Given the description of an element on the screen output the (x, y) to click on. 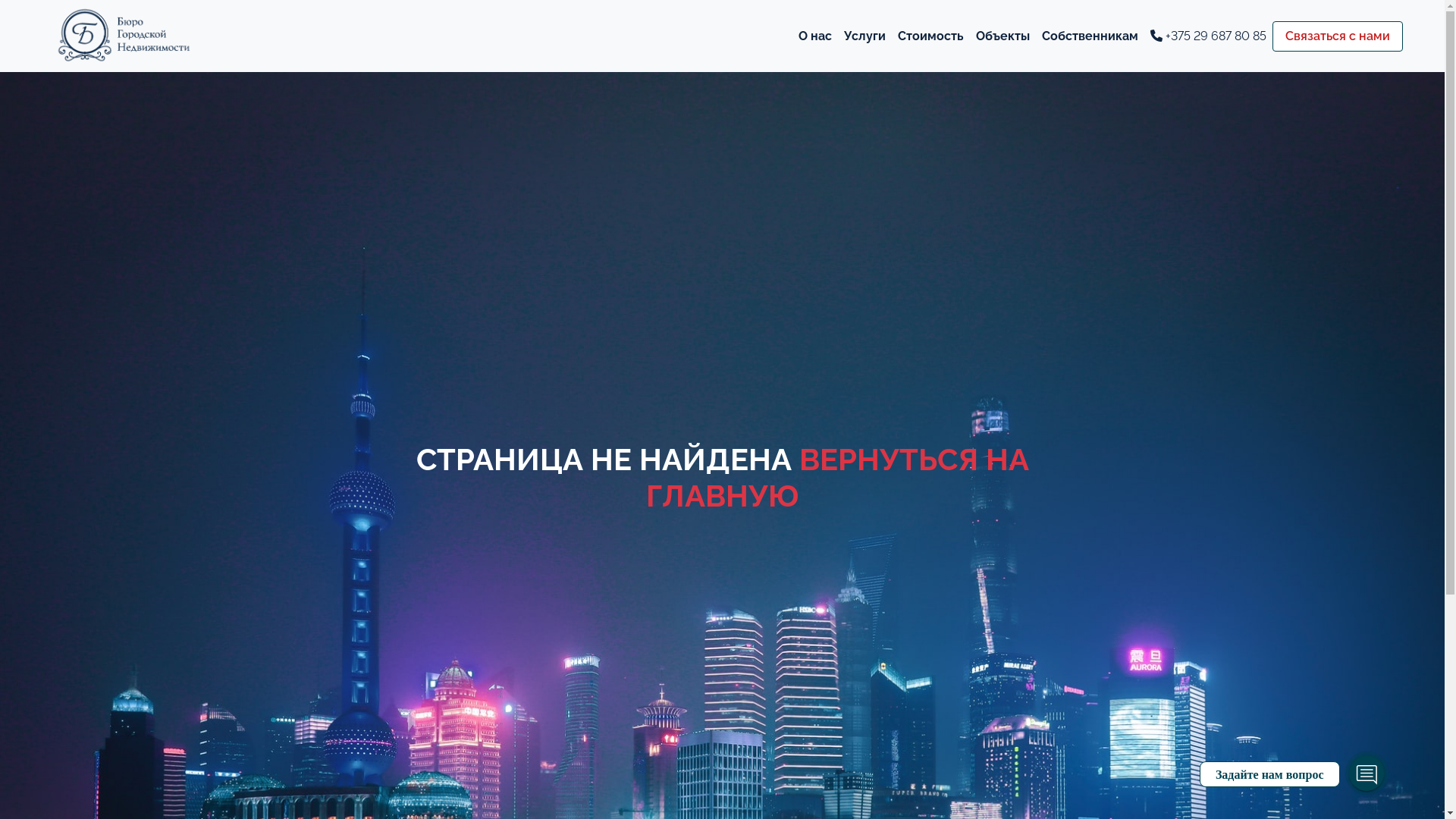
+375 29 687 80 85 Element type: text (1208, 36)
